Given the description of an element on the screen output the (x, y) to click on. 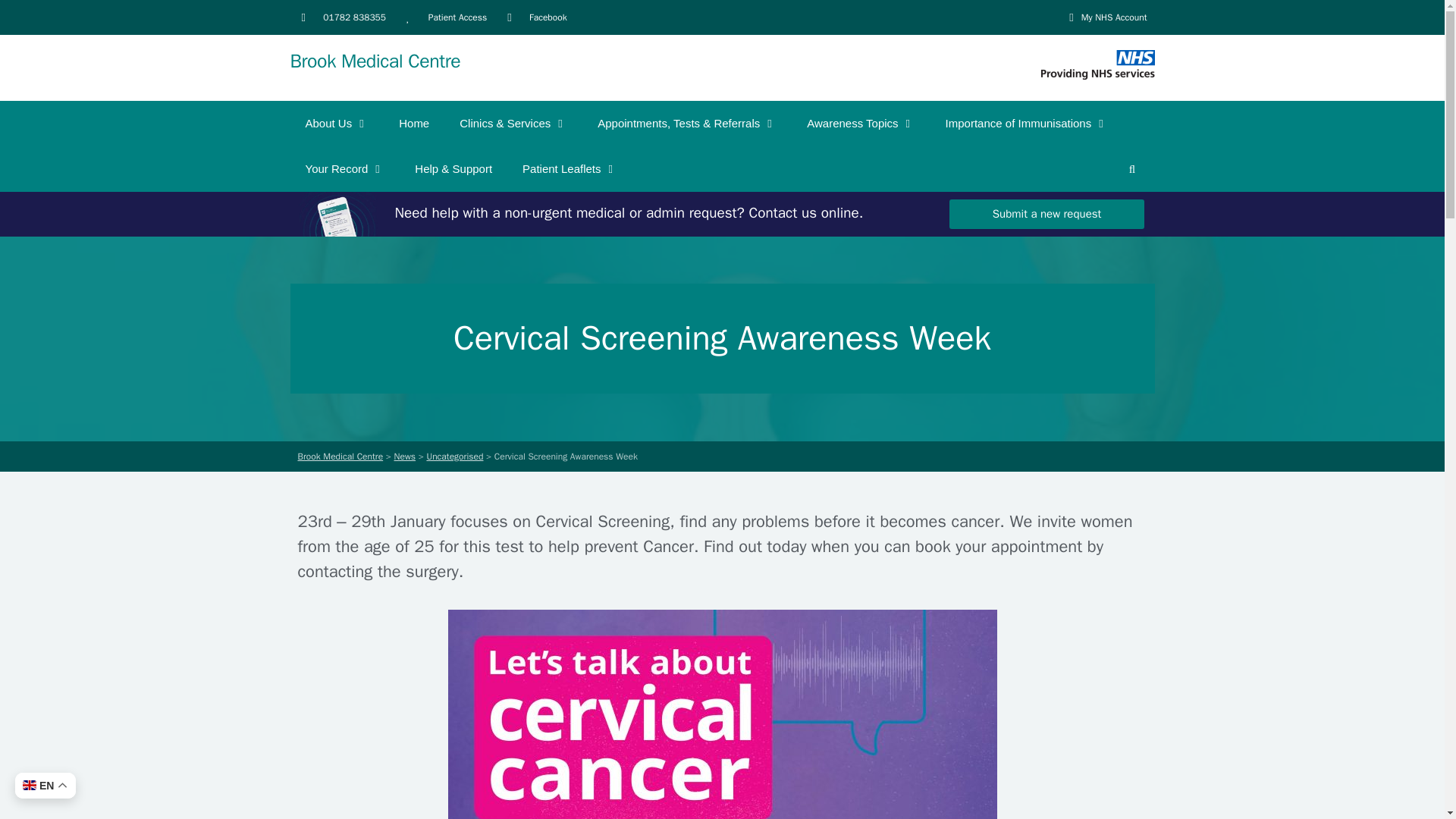
Patient Access (446, 17)
Go to Brook Medical Centre. (339, 456)
Go to the Uncategorised Category archives. (454, 456)
01782 838355 (344, 17)
Go to News. (405, 456)
Brook Medical Centre (374, 60)
Facebook (536, 17)
My NHS Account (1103, 17)
